Given the description of an element on the screen output the (x, y) to click on. 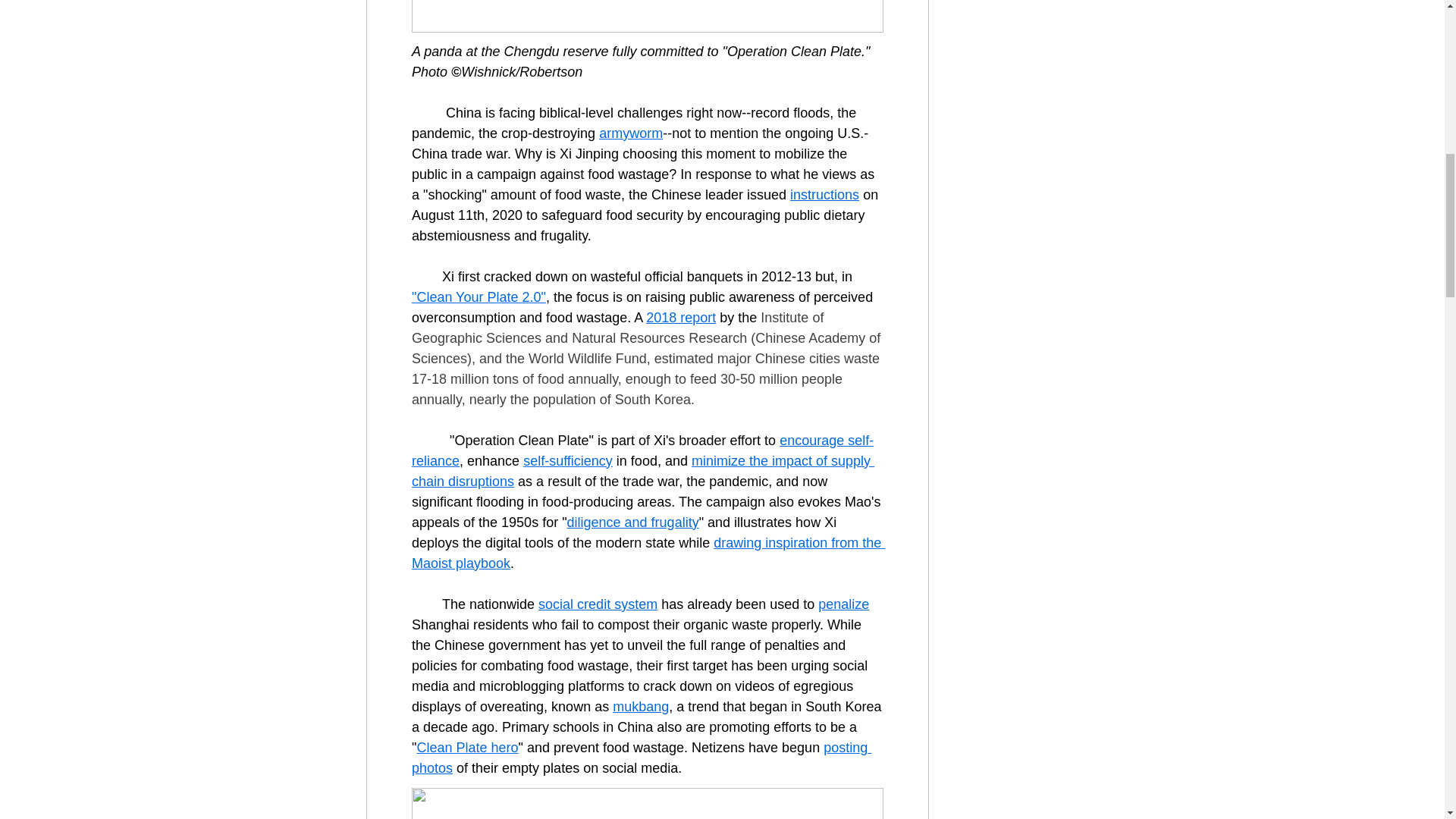
social credit system (598, 604)
drawing inspiration from the Maoist playbook (646, 552)
penalize (843, 604)
instructions (824, 194)
diligence and frugality (632, 522)
self-sufficiency (567, 460)
ukban (642, 706)
"Clean Your Plate 2.0" (477, 296)
encourage self-reliance (641, 450)
minimize the impact of supply chain disruptions (641, 470)
lean Plate hero (472, 747)
posting photos (640, 757)
2018 report (681, 317)
armyworm (630, 133)
